Given the description of an element on the screen output the (x, y) to click on. 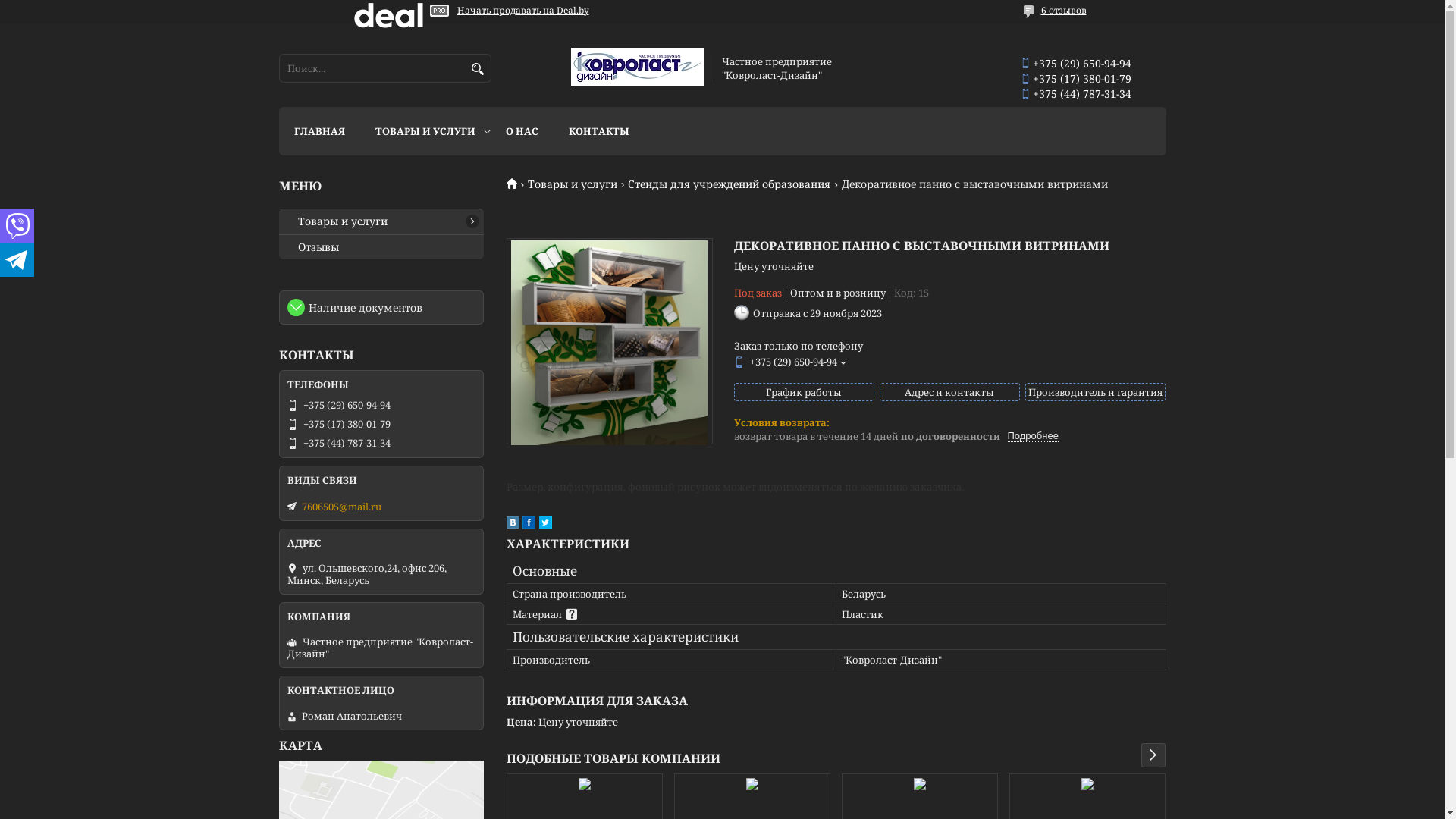
twitter Element type: hover (544, 524)
facebook Element type: hover (527, 524)
7606505@mail.ru Element type: text (341, 506)
